Given the description of an element on the screen output the (x, y) to click on. 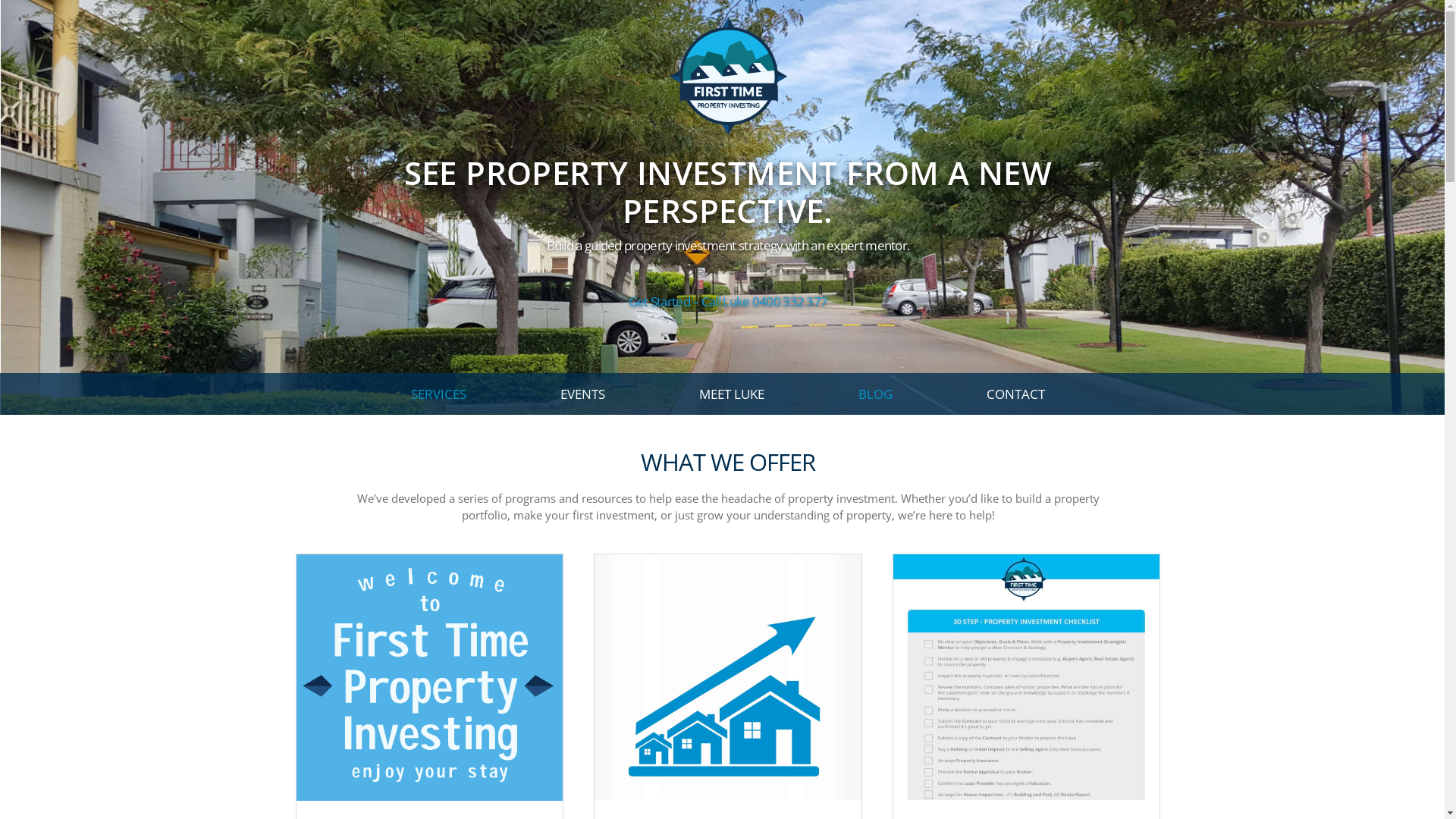
EVENTS Element type: text (582, 394)
BLOG Element type: text (875, 394)
SERVICES Element type: text (438, 394)
CONTACT Element type: text (1015, 394)
MEET LUKE Element type: text (731, 394)
